Given the description of an element on the screen output the (x, y) to click on. 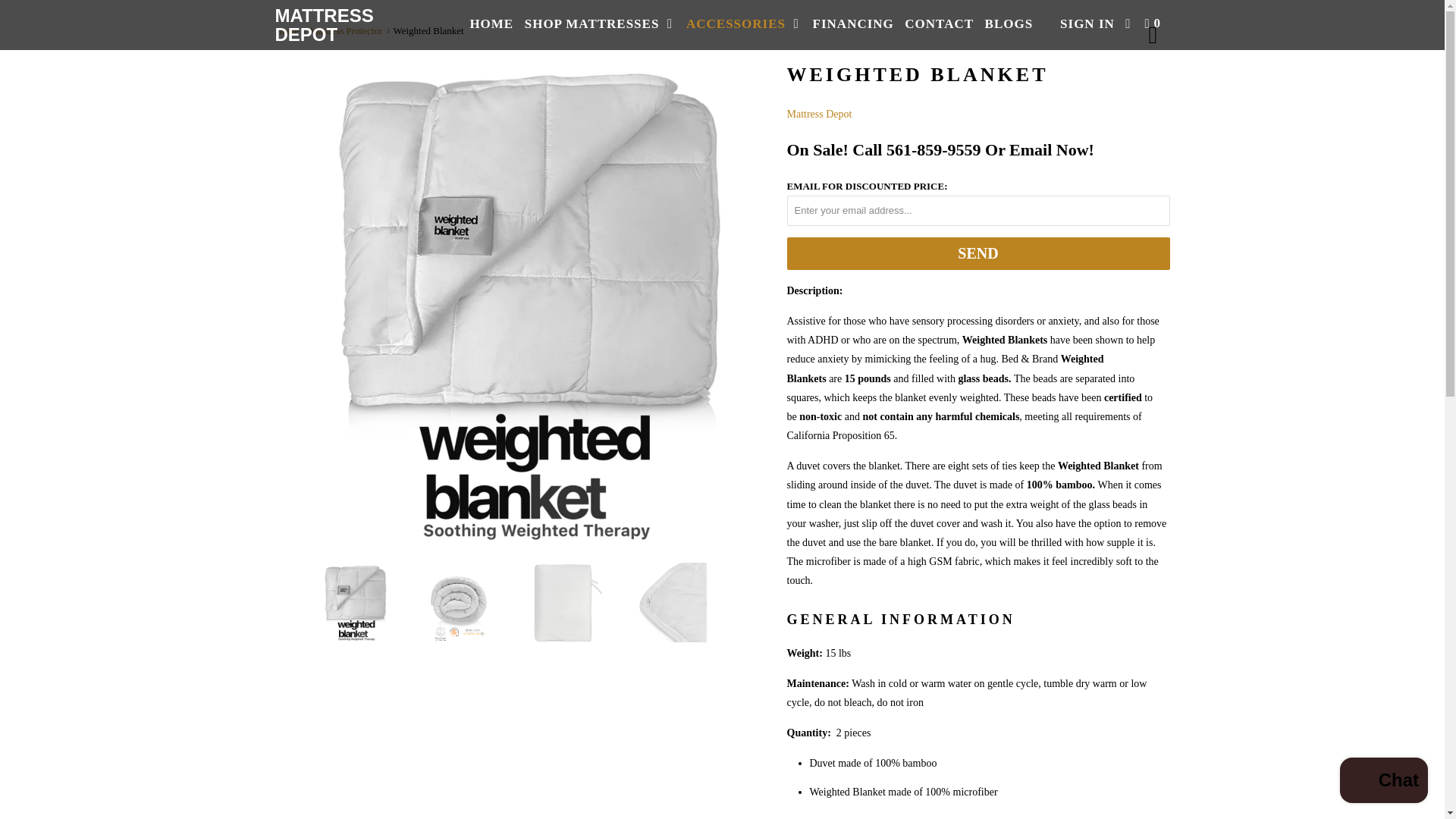
Mattress Protector (346, 30)
HOME (490, 23)
SHOP MATTRESSES   (599, 23)
0 (1154, 23)
My Account  (1087, 23)
SIGN IN (1087, 23)
Mattress Depot (352, 24)
Mattress Depot (286, 30)
Mattress Depot (819, 113)
